Given the description of an element on the screen output the (x, y) to click on. 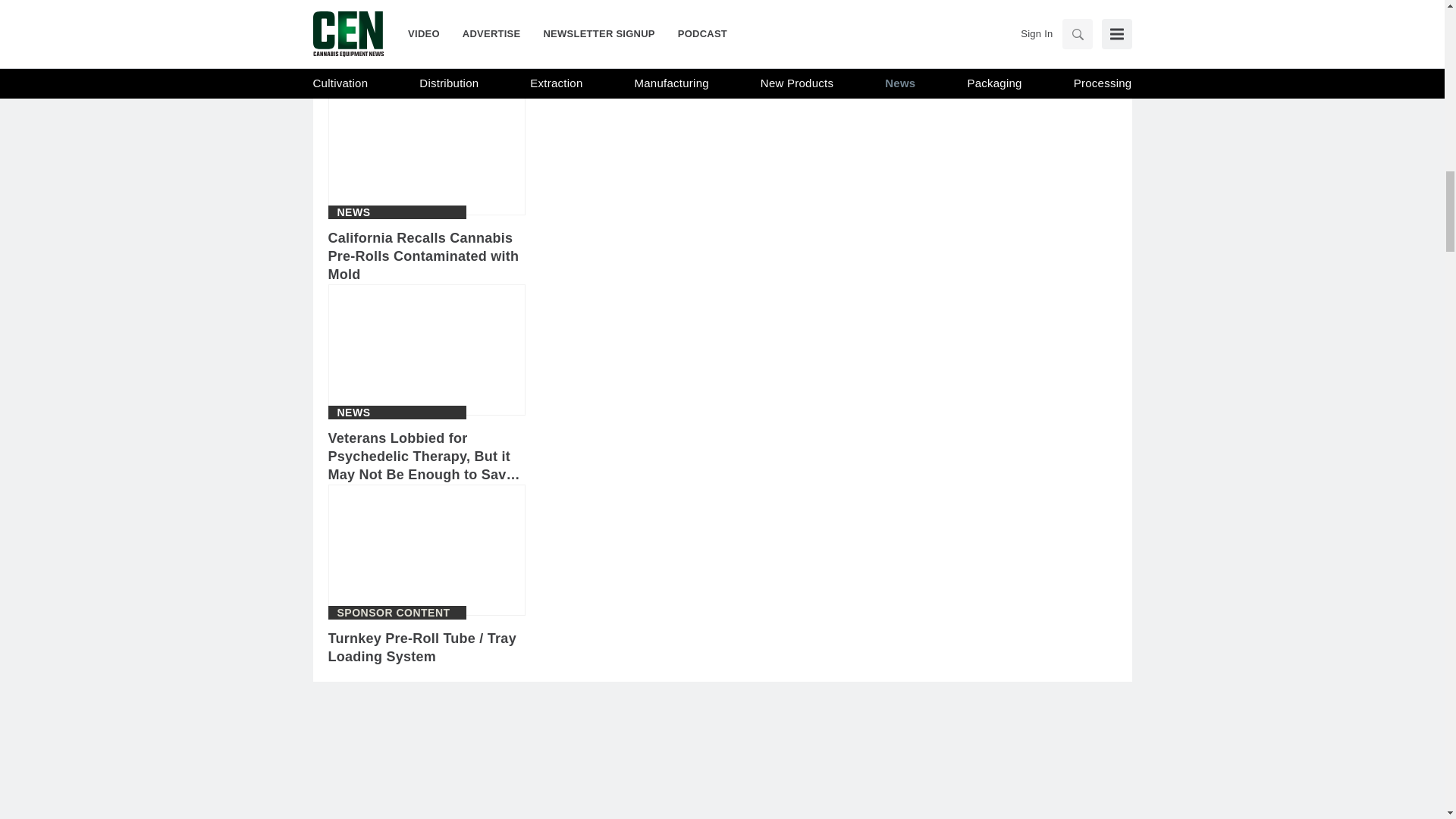
Sponsor Content (392, 612)
News (352, 11)
News (352, 212)
News (352, 412)
